Given the description of an element on the screen output the (x, y) to click on. 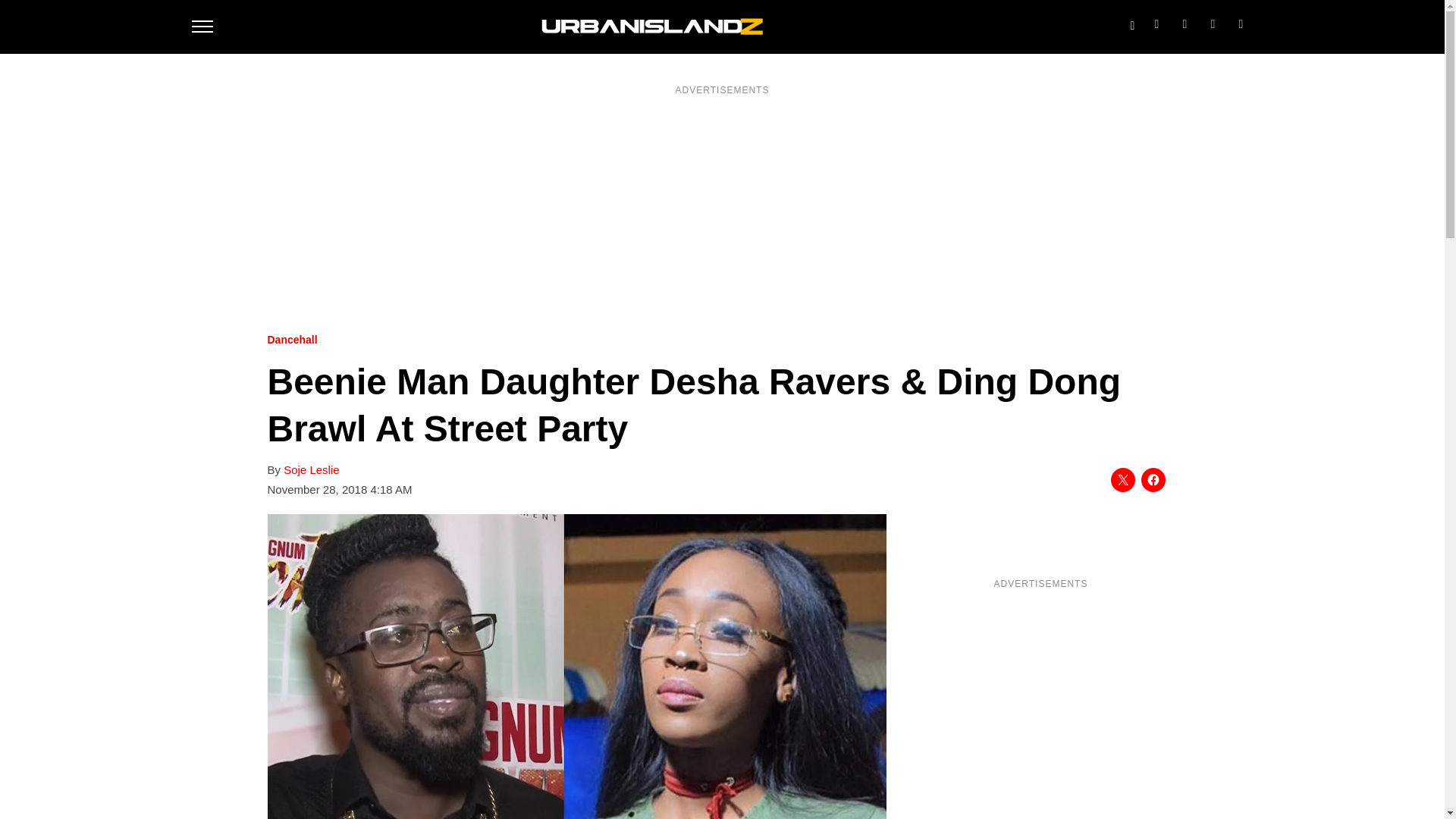
Click to share on Facebook (1152, 479)
Click to share on X (1121, 479)
Soje Leslie (311, 470)
Posts by Soje Leslie (311, 470)
Search (1131, 22)
Dancehall (291, 340)
